Given the description of an element on the screen output the (x, y) to click on. 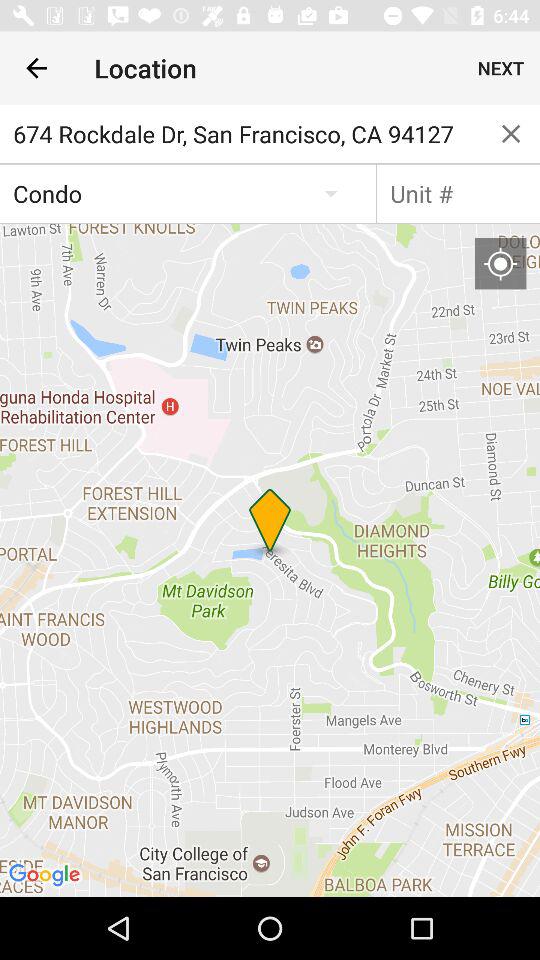
toggle location (500, 263)
